Given the description of an element on the screen output the (x, y) to click on. 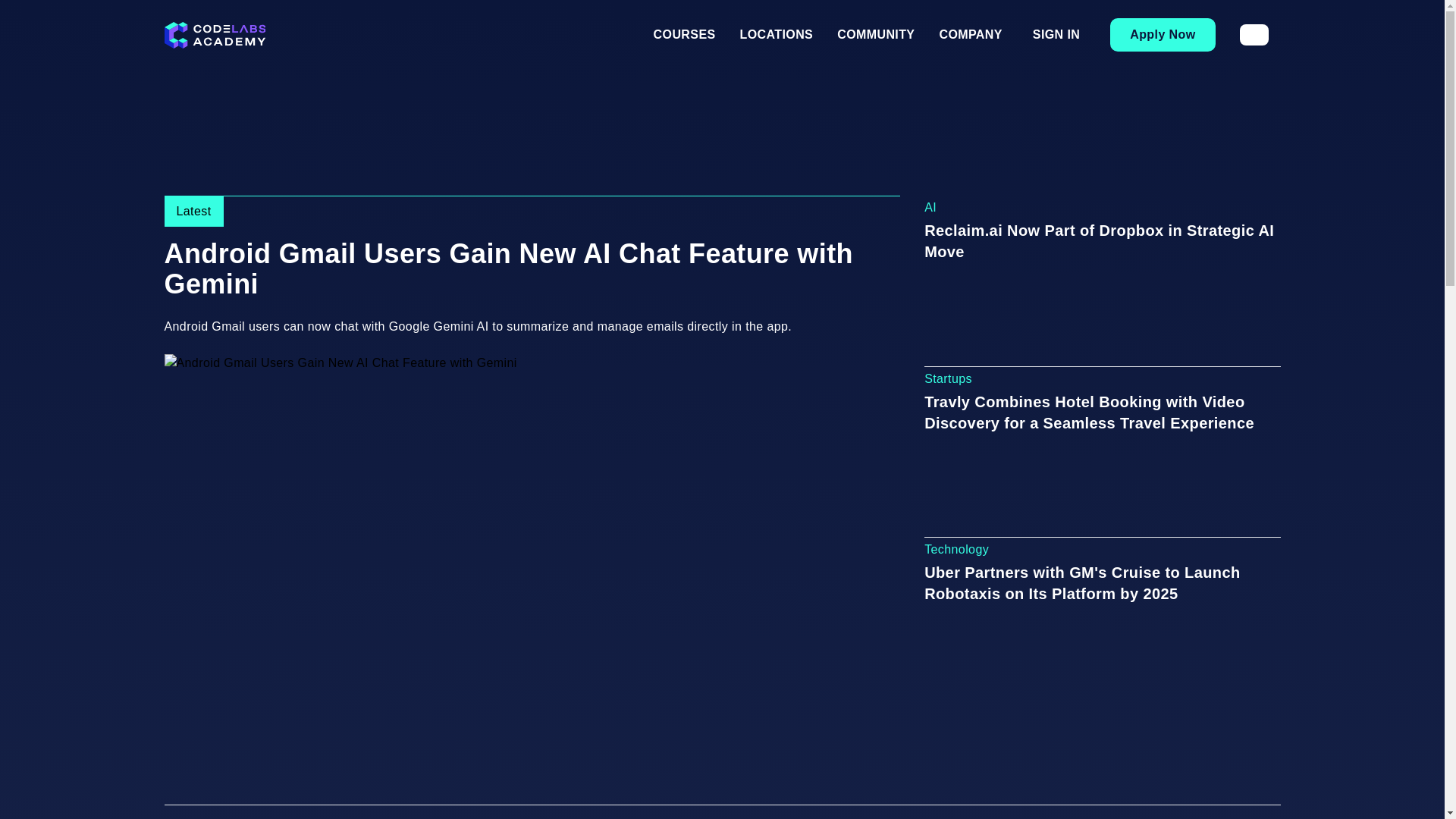
Apply Now (1161, 34)
Android Gmail Users Gain New AI Chat Feature with Gemini (531, 269)
SIGN IN (1055, 34)
